Given the description of an element on the screen output the (x, y) to click on. 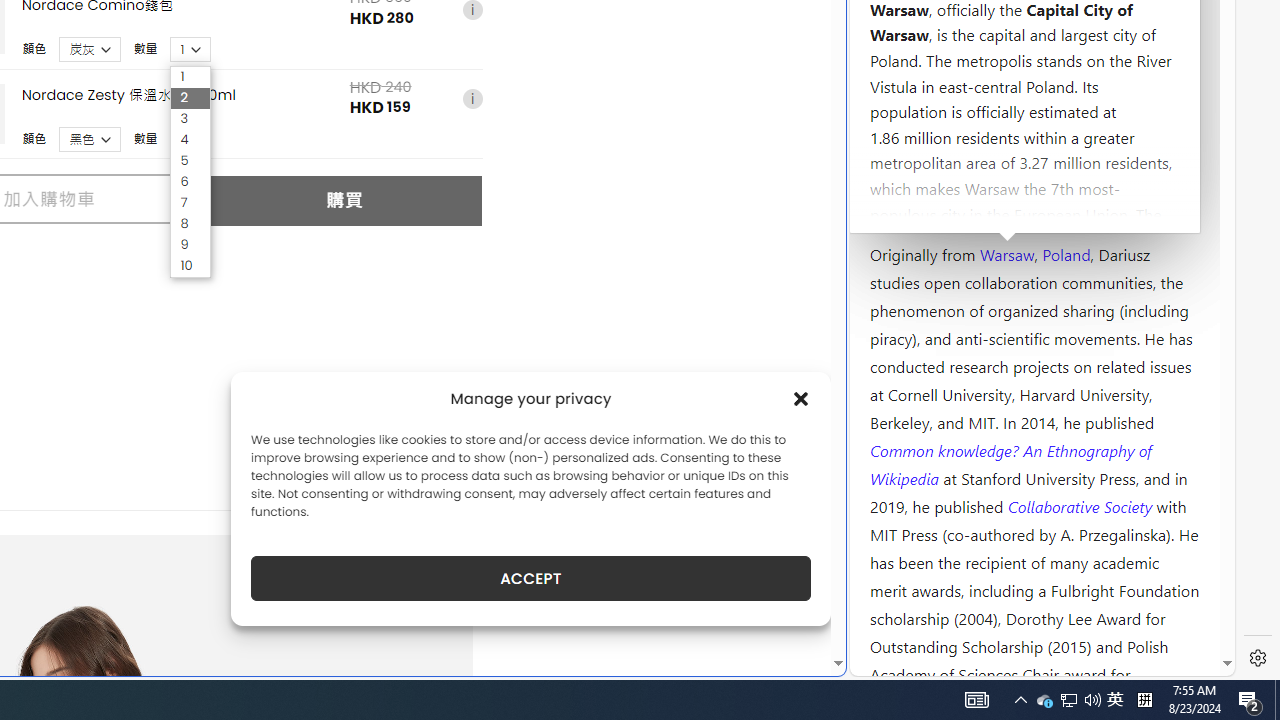
8 (190, 223)
9 (190, 245)
3 (190, 119)
Kozminski University (1034, 136)
1 (190, 76)
Common knowledge? An Ethnography of Wikipedia (1010, 463)
Class: upsell-v2-product-upsell-variable-product-qty-select (191, 139)
